Given the description of an element on the screen output the (x, y) to click on. 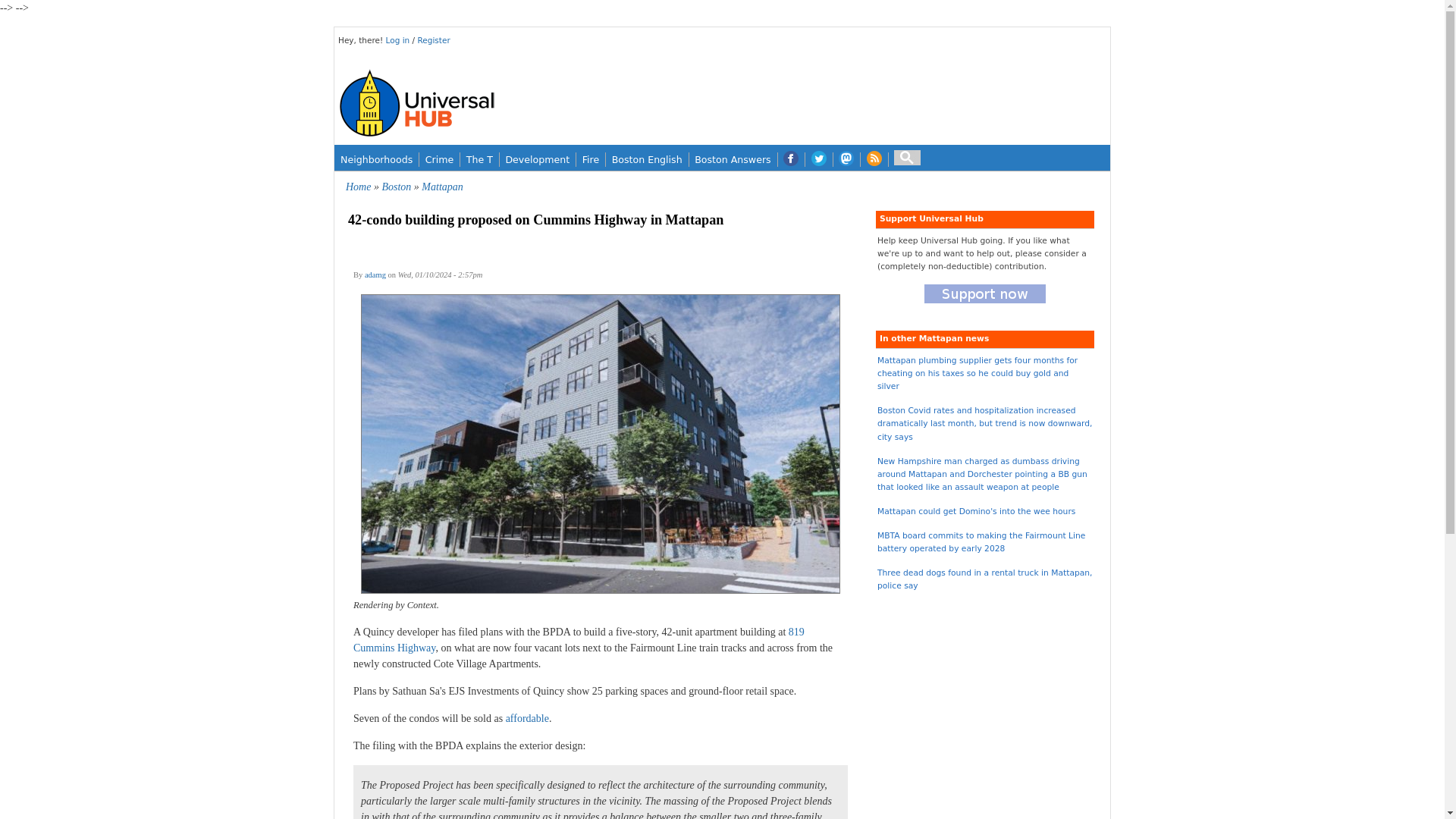
Mattapan could get Domino's into the wee hours (976, 511)
819 Cummins Highway (579, 639)
Universal Hub on Mastodon (846, 159)
Universal Hub on Twitter (818, 159)
affordable (526, 717)
Wicked Good Guide to Boston English (646, 159)
Mattapan (442, 186)
Universal Hub on Facebook (791, 159)
Register (432, 40)
Development (537, 159)
